Given the description of an element on the screen output the (x, y) to click on. 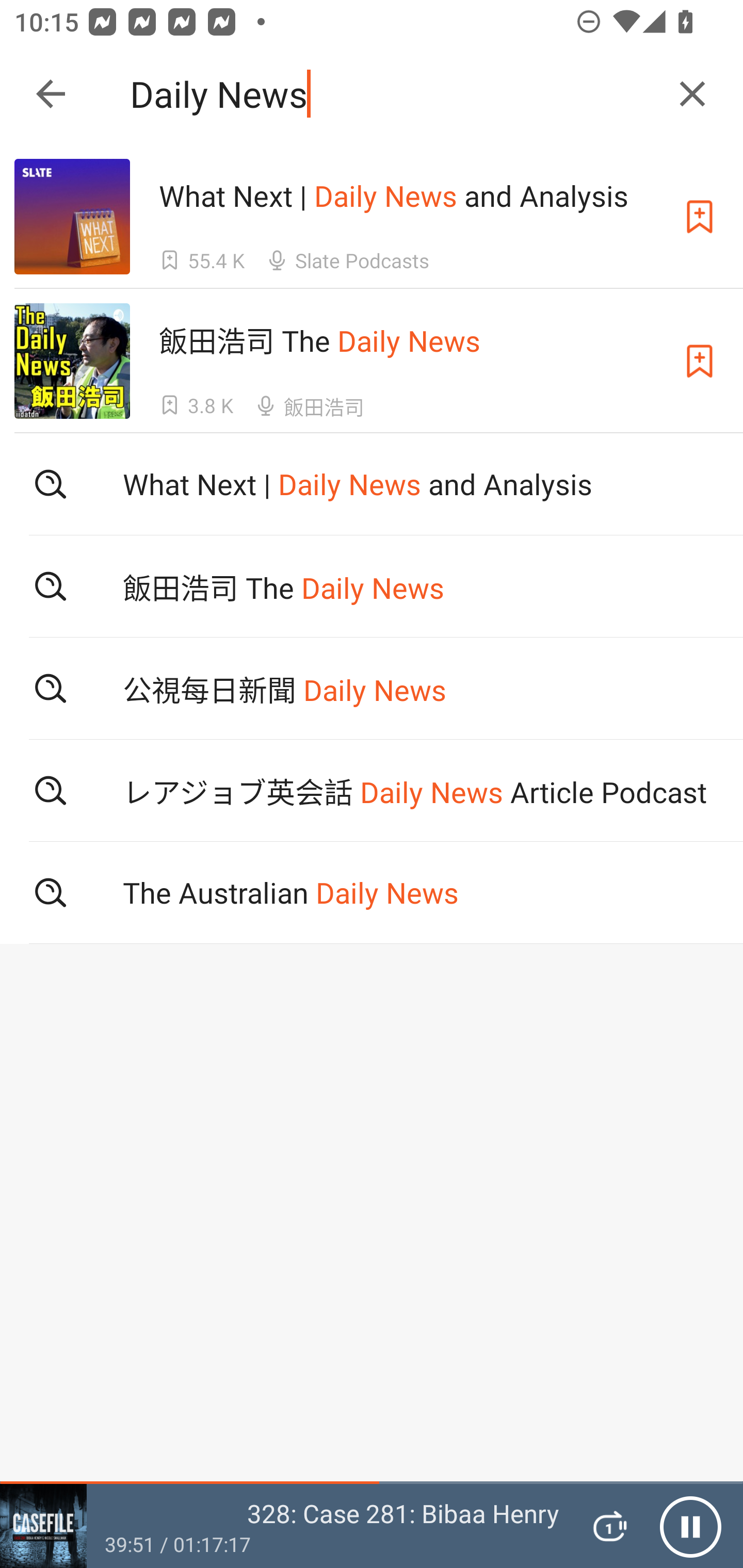
Collapse (50, 93)
Clear query (692, 93)
Daily News (393, 94)
Subscribe (699, 216)
Subscribe (699, 360)
 What Next | Daily News and Analysis (371, 483)
 飯田浩司 The Daily News (371, 585)
 公視每日新聞 Daily News (371, 688)
 レアジョブ英会話 Daily News Article Podcast (371, 791)
 The Australian Daily News (371, 892)
Pause (690, 1526)
